Given the description of an element on the screen output the (x, y) to click on. 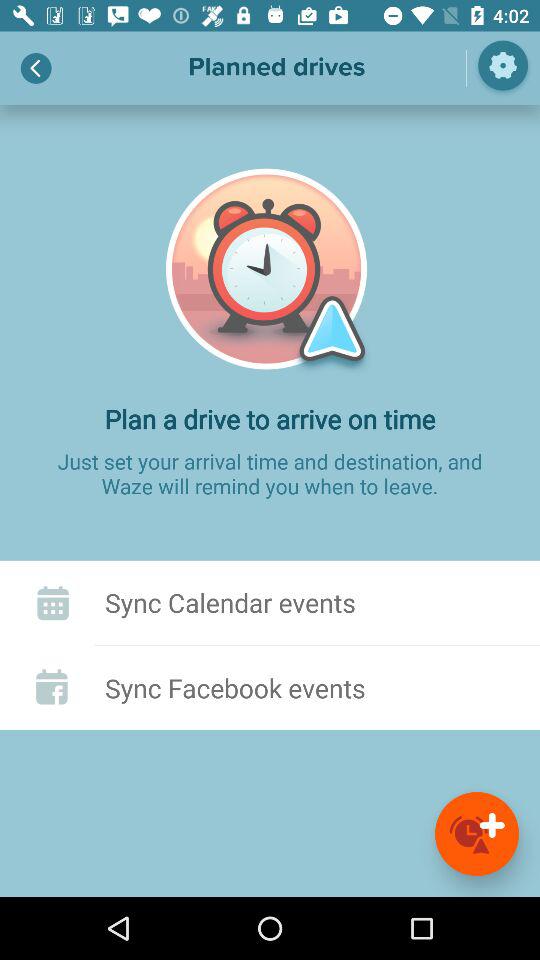
it is added events (477, 834)
